Given the description of an element on the screen output the (x, y) to click on. 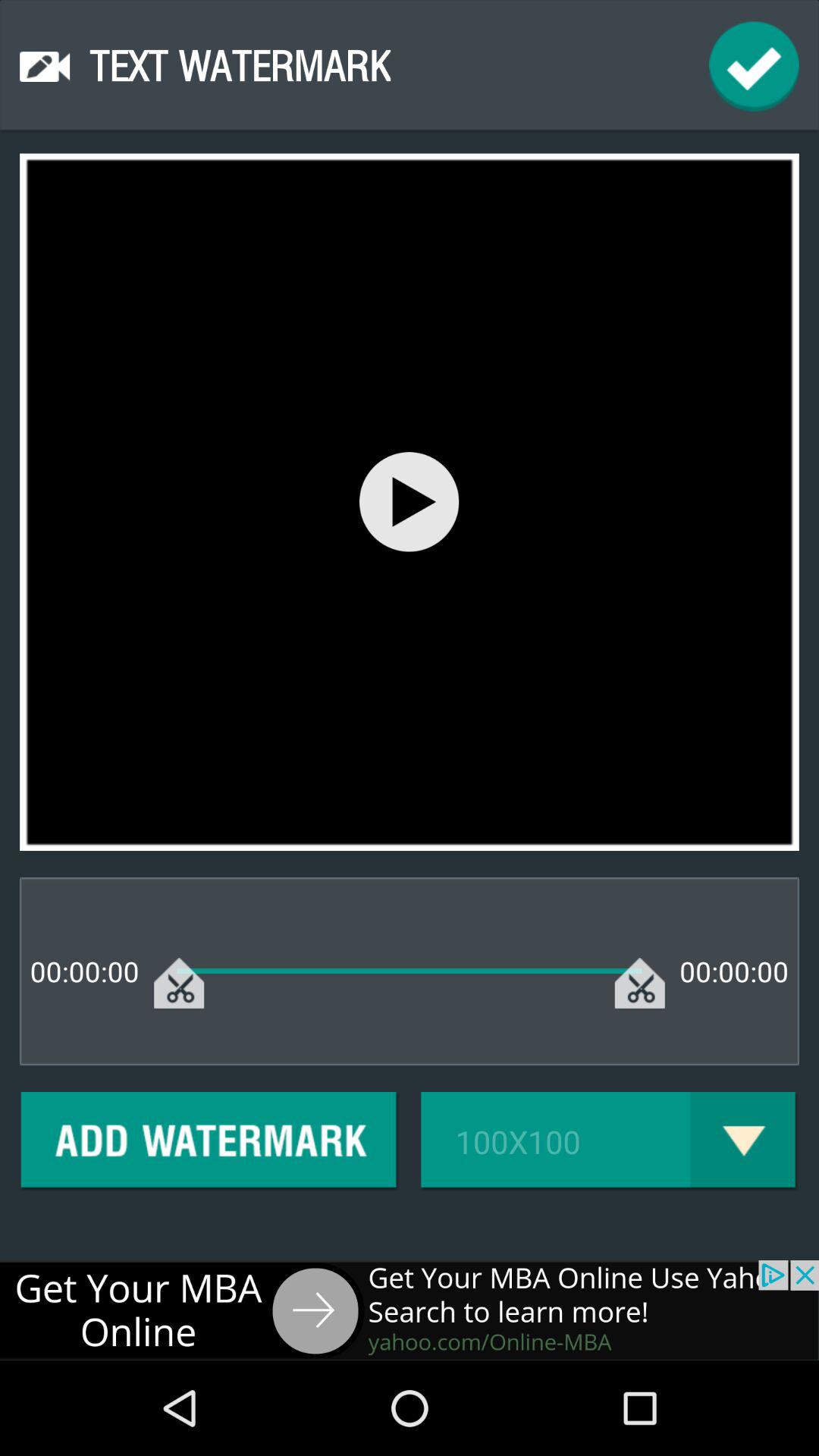
add watermark (209, 1141)
